Given the description of an element on the screen output the (x, y) to click on. 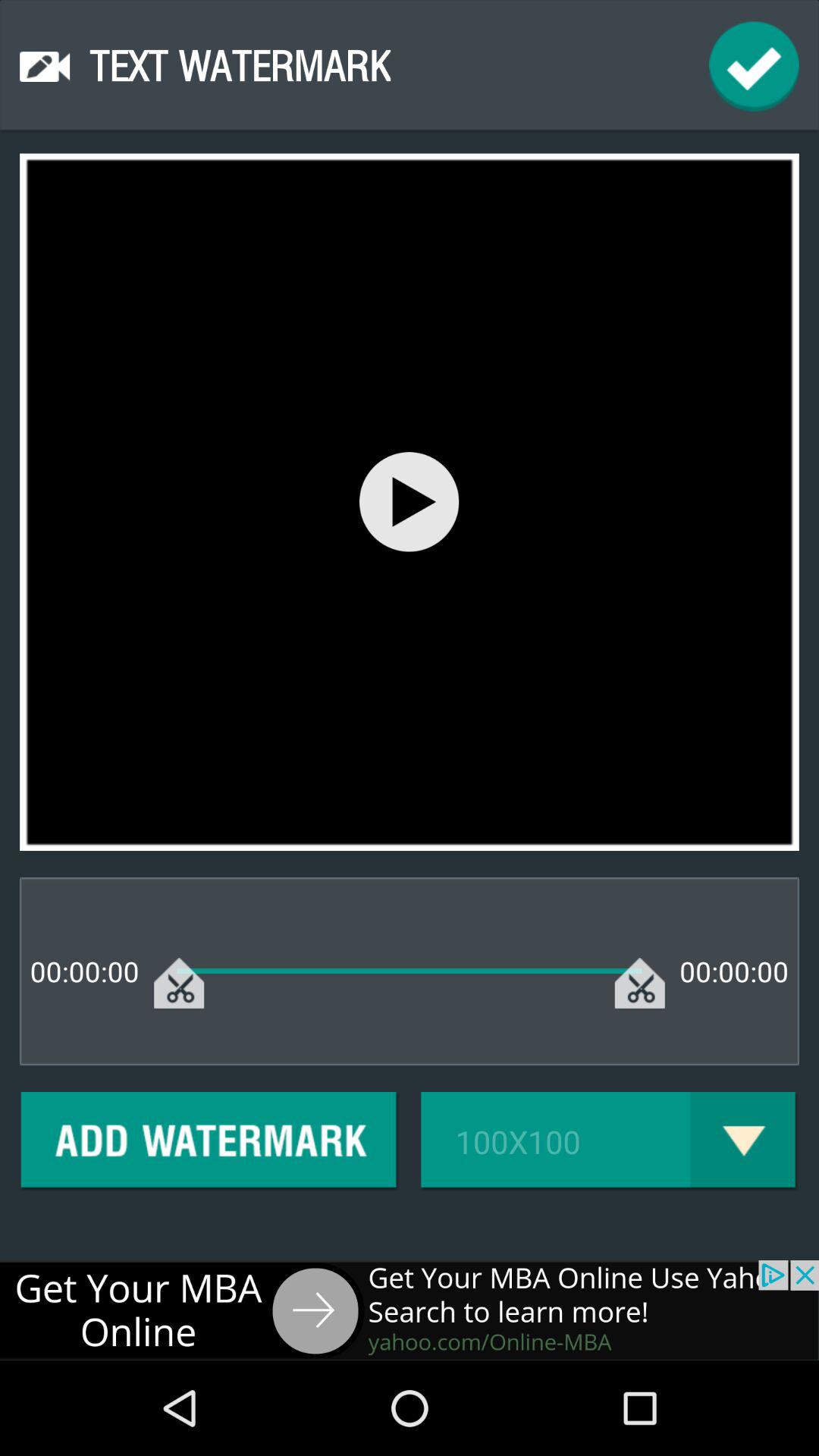
add watermark (209, 1141)
